Given the description of an element on the screen output the (x, y) to click on. 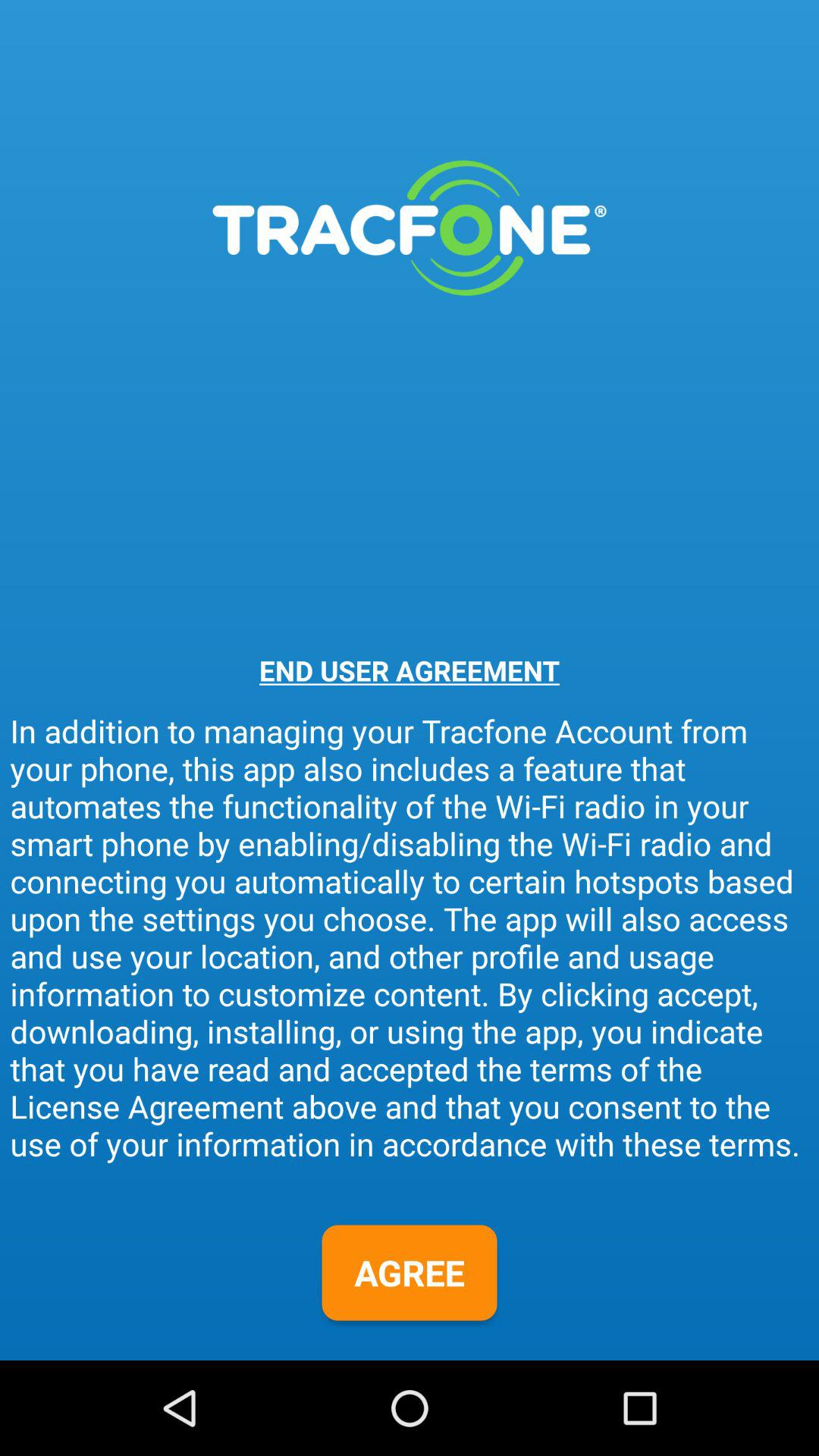
turn off icon below in addition to (409, 1272)
